Given the description of an element on the screen output the (x, y) to click on. 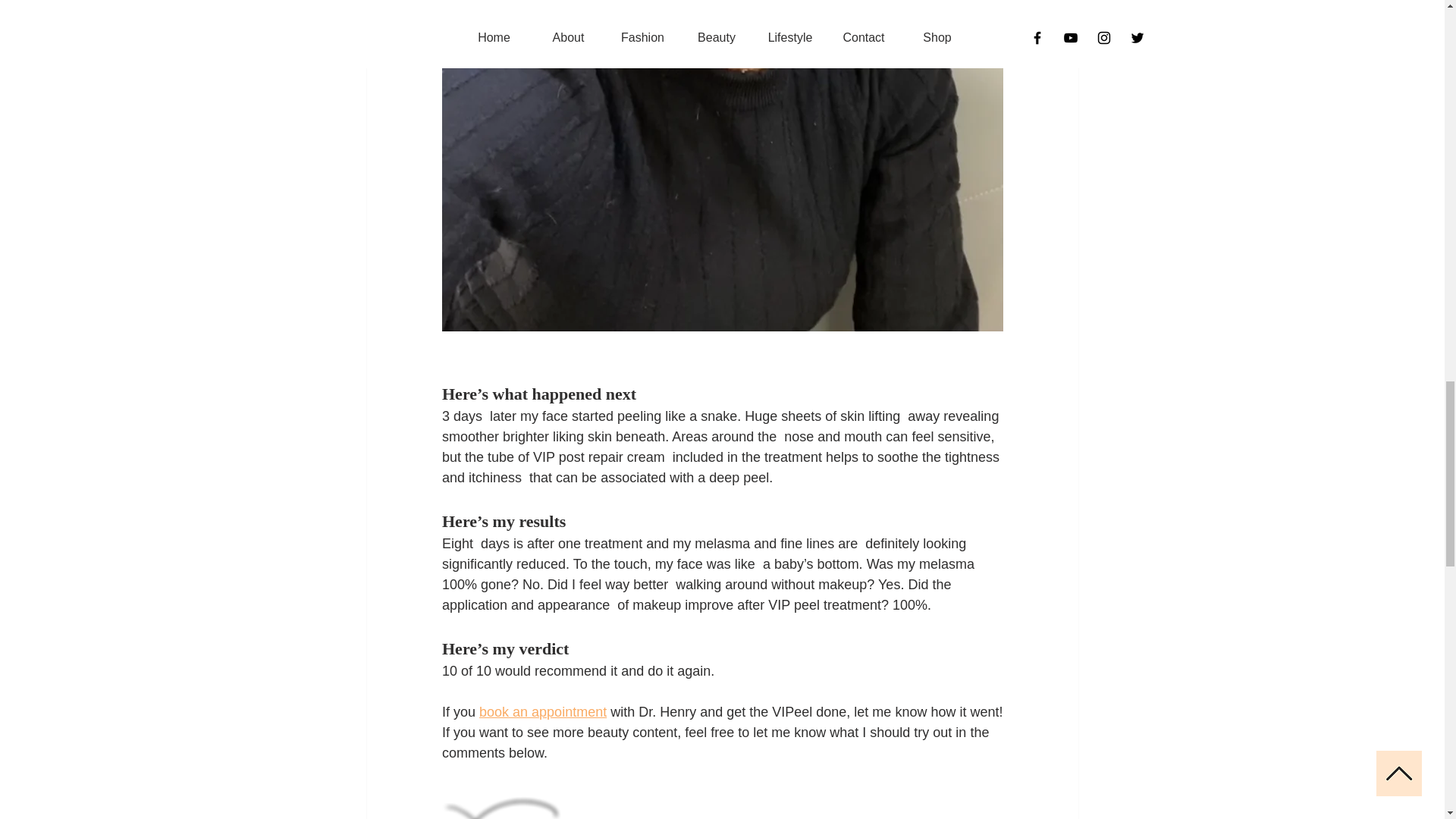
book an appointment (543, 711)
